Given the description of an element on the screen output the (x, y) to click on. 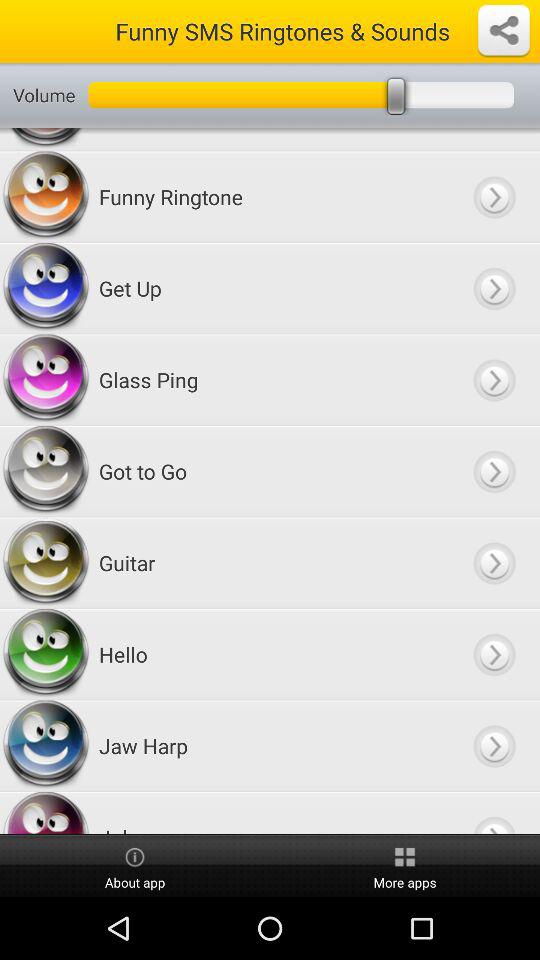
ringtone option (494, 288)
